Given the description of an element on the screen output the (x, y) to click on. 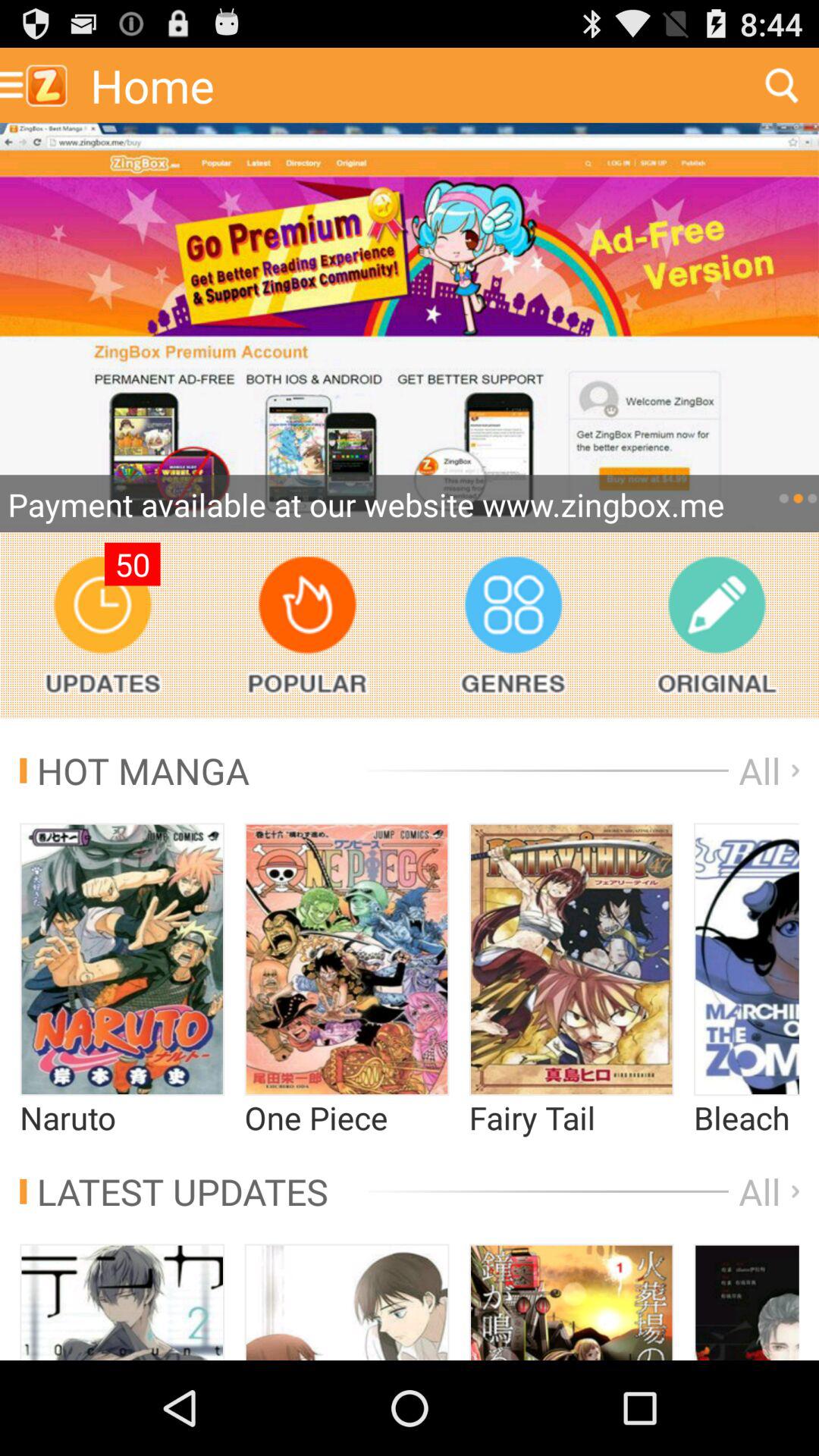
open one piece (346, 958)
